Given the description of an element on the screen output the (x, y) to click on. 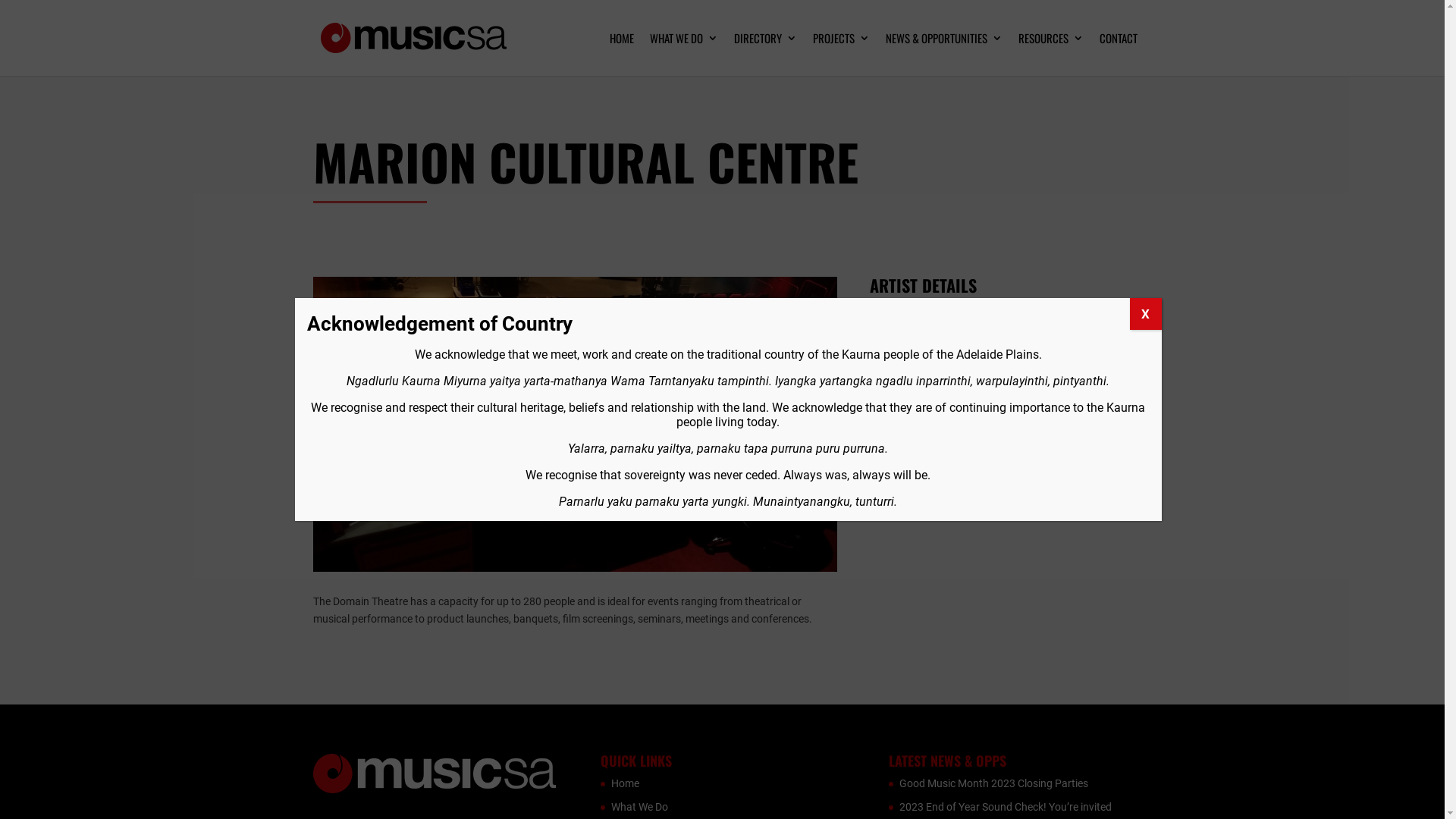
www.marionculturalcentre.com.au Element type: text (993, 309)
X Element type: text (1145, 313)
Home Element type: text (625, 783)
HOME Element type: text (621, 53)
WHAT WE DO Element type: text (683, 53)
CONTACT Element type: text (1118, 53)
PROJECTS Element type: text (840, 53)
RESOURCES Element type: text (1050, 53)
What We Do Element type: text (639, 806)
NEWS & OPPORTUNITIES Element type: text (943, 53)
Good Music Month 2023 Closing Parties Element type: text (993, 783)
DIRECTORY Element type: text (765, 53)
